Given the description of an element on the screen output the (x, y) to click on. 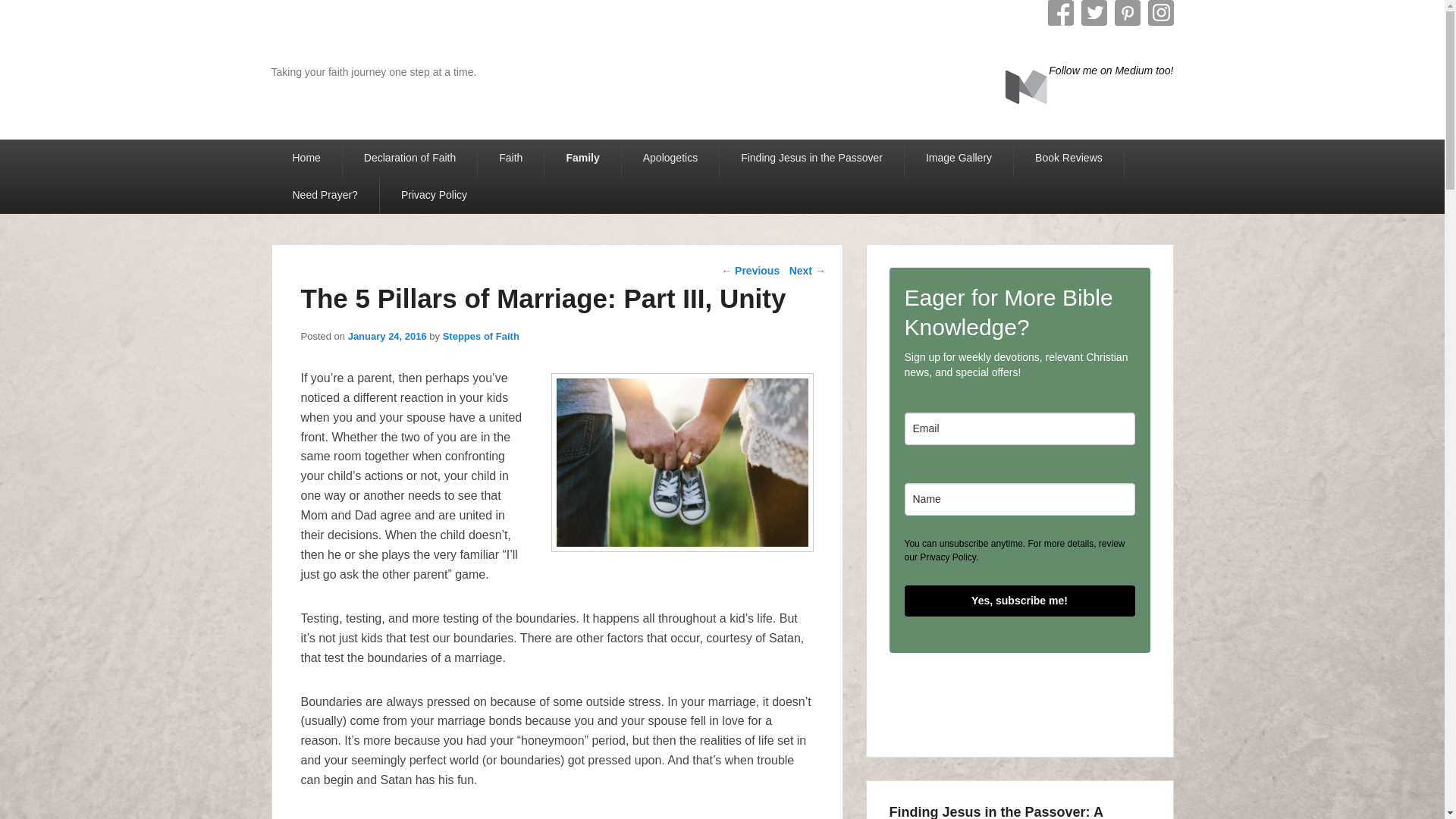
Pinterest (1127, 12)
View all posts by Steppes of Faith (480, 336)
Pinterest (1127, 12)
Instagram (1160, 12)
Faith (510, 157)
Home (306, 157)
Twitter (1093, 12)
Twitter (1093, 12)
Declaration of Faith (409, 157)
Facebook (1061, 12)
Instagram (1160, 12)
7:46 pm (386, 336)
Facebook (1061, 12)
